Given the description of an element on the screen output the (x, y) to click on. 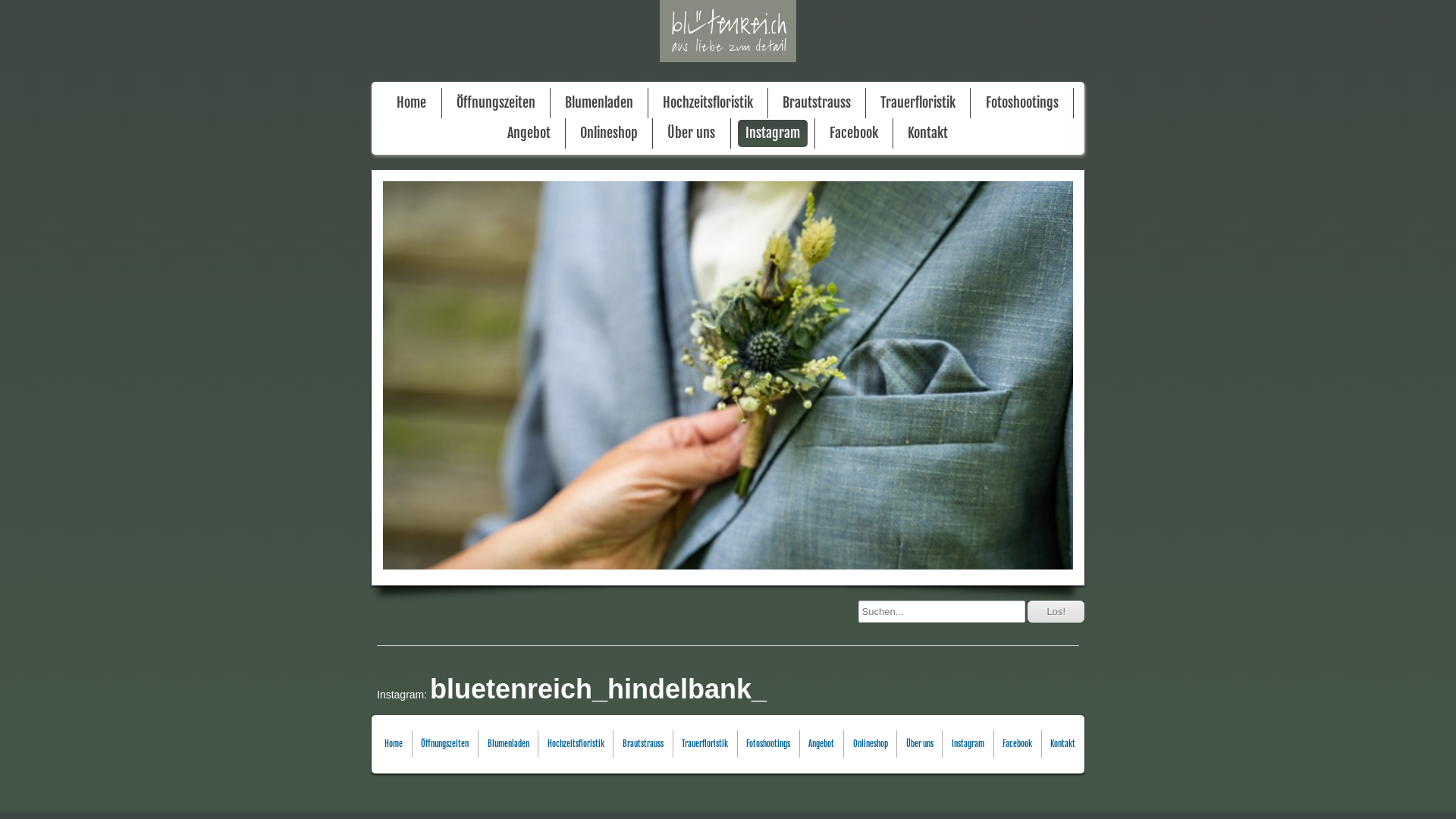
Trauerfloristik Element type: text (917, 102)
Fotoshootings Element type: text (767, 743)
Instagram Element type: text (967, 743)
Blumenladen Element type: text (508, 743)
Kontakt Element type: text (1062, 743)
Trauerfloristik Element type: text (704, 743)
Fotoshootings Element type: text (1022, 102)
Brautstrauss Element type: text (816, 102)
Facebook Element type: text (1016, 743)
Onlineshop Element type: text (608, 133)
Home Element type: text (393, 743)
Facebook Element type: text (853, 133)
Angebot Element type: text (820, 743)
Los! Element type: text (1055, 611)
Instagram Element type: text (772, 133)
Hochzeitsfloristik Element type: text (707, 102)
Brautstrauss Element type: text (643, 743)
Angebot Element type: text (528, 133)
Kontakt Element type: text (927, 133)
Home Element type: text (411, 102)
Blumenladen Element type: text (598, 102)
Onlineshop Element type: text (870, 743)
Hochzeitsfloristik Element type: text (575, 743)
